Given the description of an element on the screen output the (x, y) to click on. 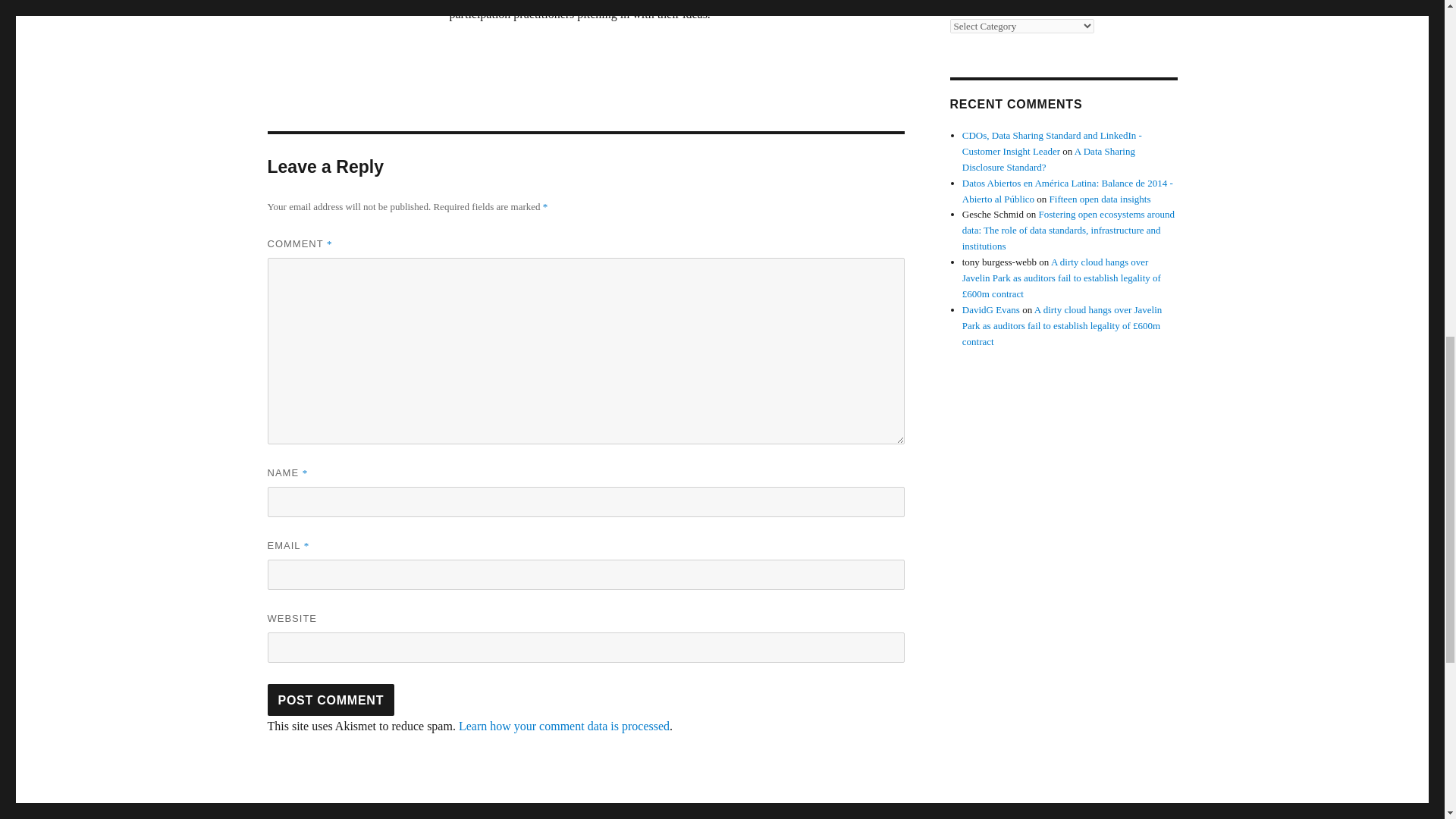
DavidG Evans (991, 309)
Post Comment (330, 699)
A Data Sharing Disclosure Standard? (1048, 158)
Fifteen open data insights (1100, 197)
Post Comment (330, 699)
Learn how your comment data is processed (563, 725)
